Given the description of an element on the screen output the (x, y) to click on. 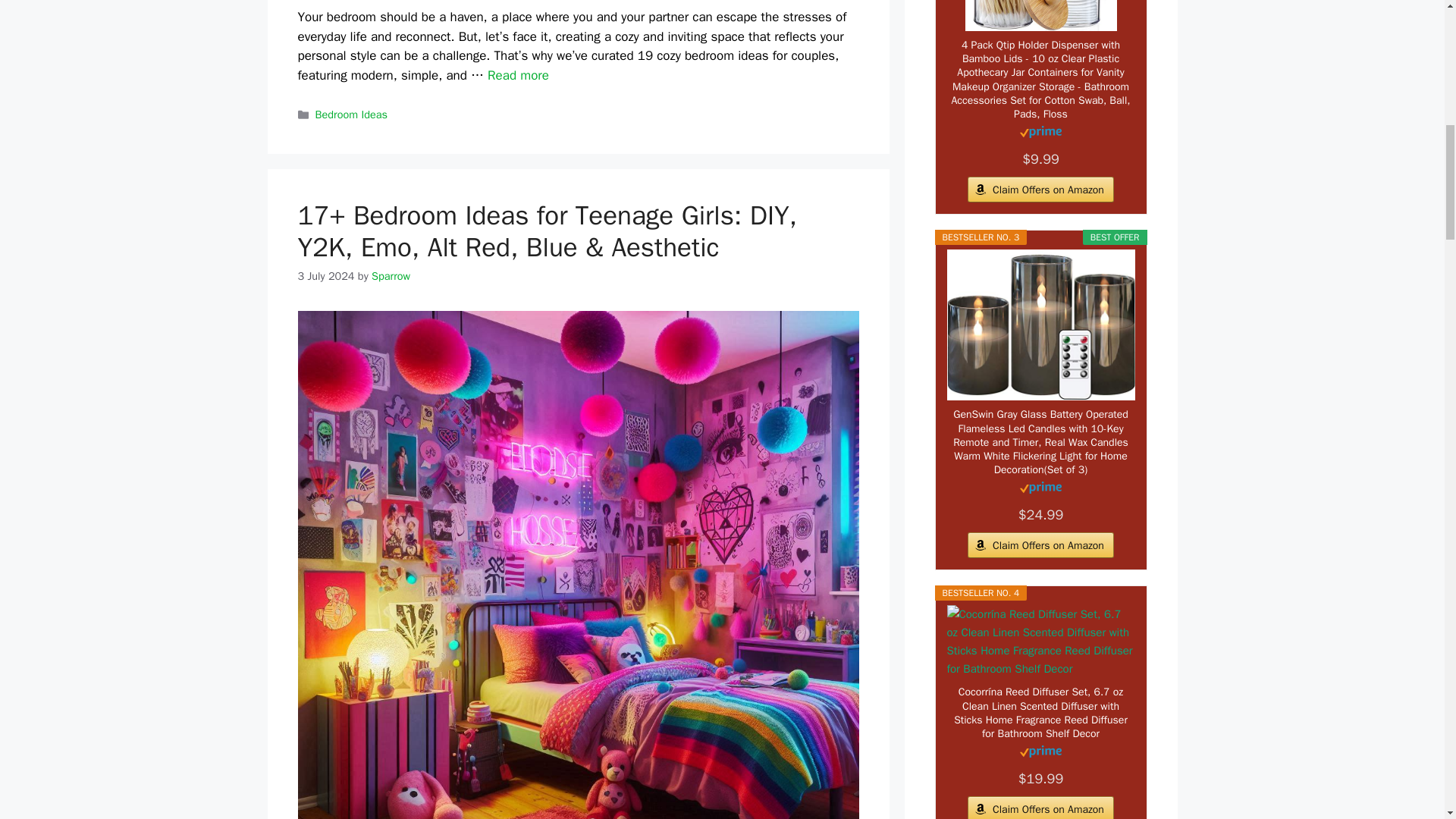
View all posts by Sparrow (390, 275)
Bedroom Ideas (351, 114)
Sparrow (390, 275)
Read more (517, 75)
